Given the description of an element on the screen output the (x, y) to click on. 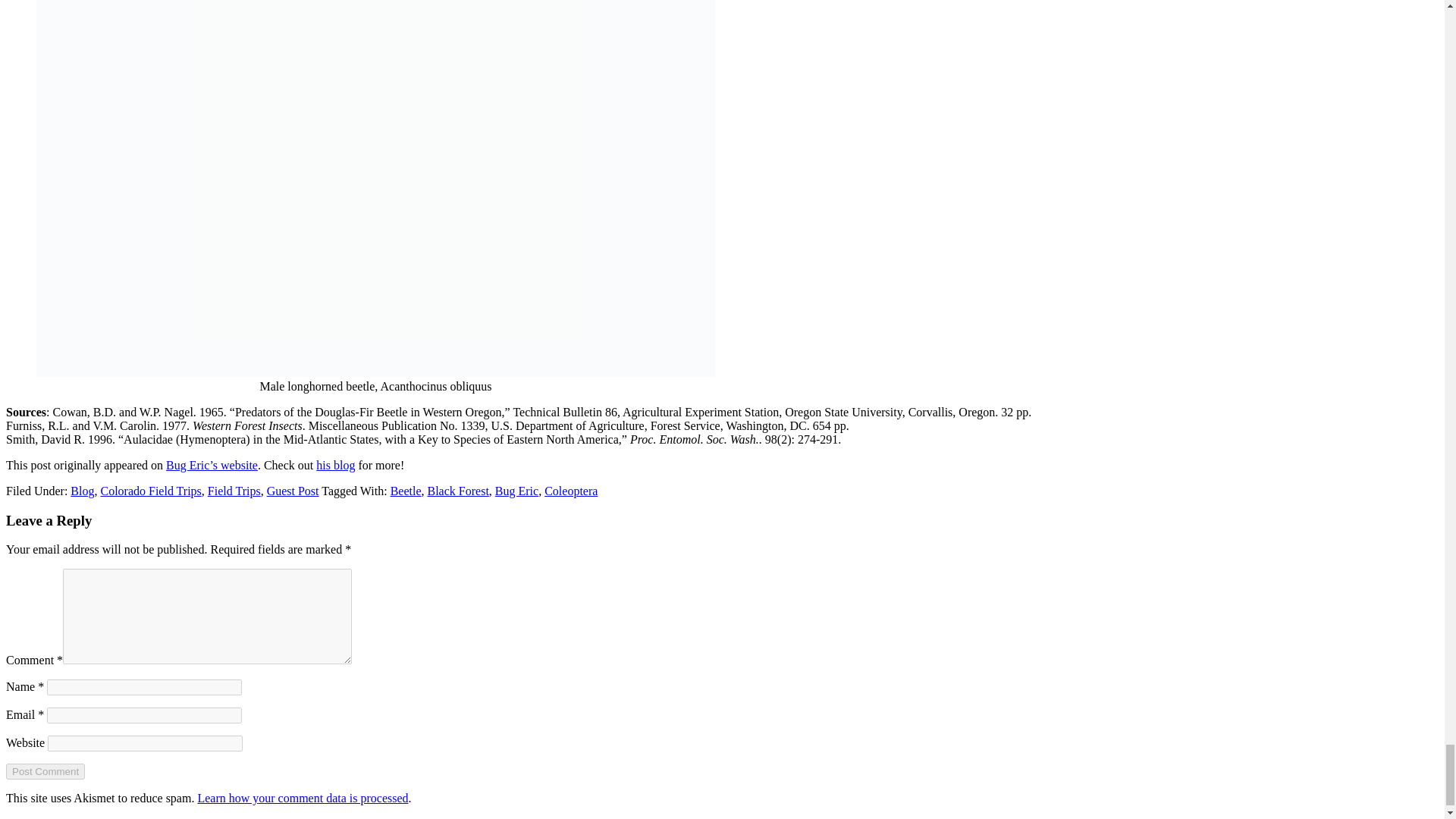
Field Trips (234, 490)
Blog (81, 490)
Post Comment (44, 771)
Bug Eric (516, 490)
Colorado Field Trips (150, 490)
Post Comment (44, 771)
Learn how your comment data is processed (301, 797)
Guest Post (292, 490)
his blog (335, 464)
Beetle (406, 490)
